Given the description of an element on the screen output the (x, y) to click on. 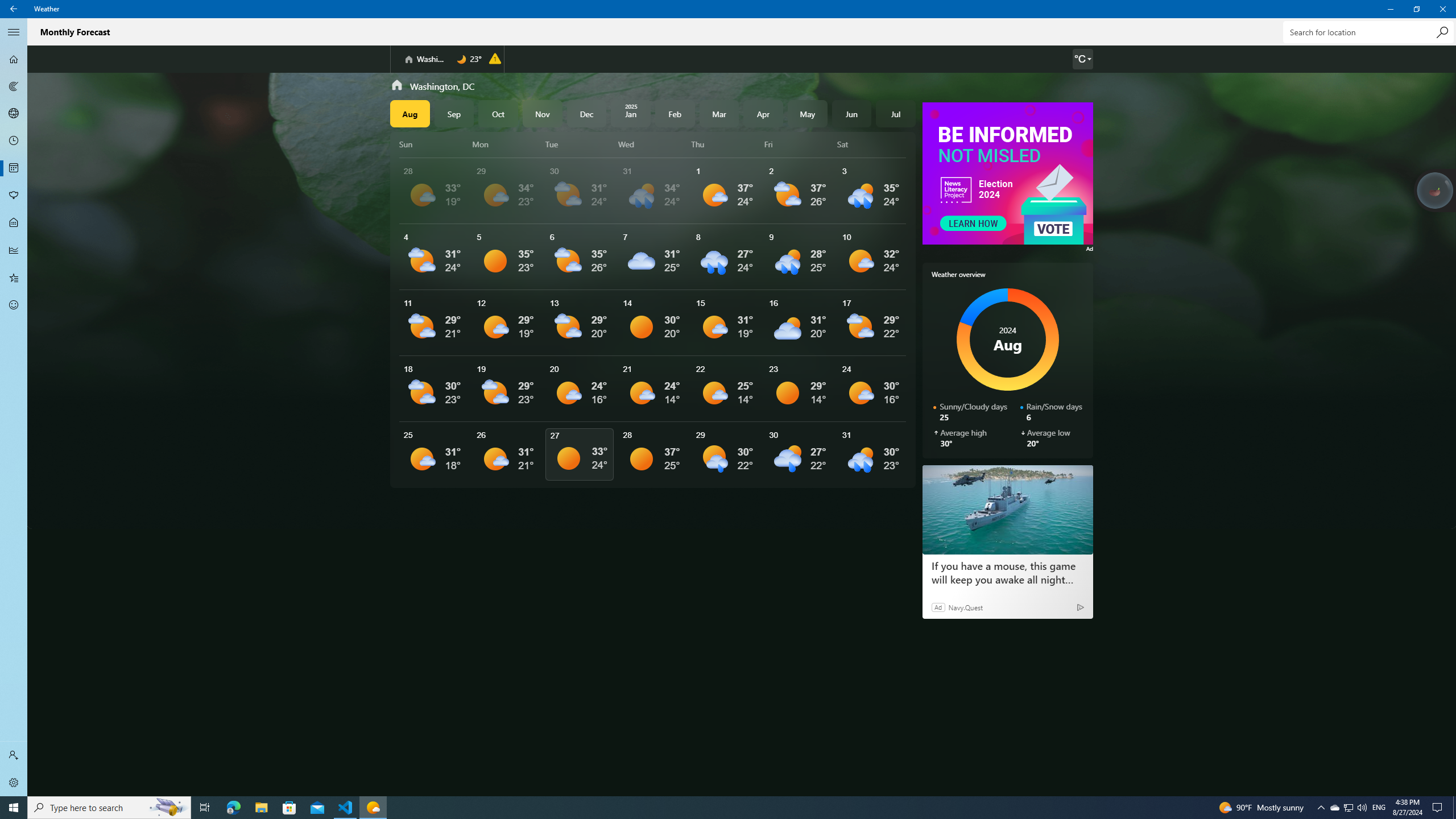
Historical Weather - Not Selected (13, 249)
Minimize Weather (1390, 9)
Maps - Not Selected (13, 85)
Show desktop (1454, 807)
Action Center, No new notifications (1439, 807)
